Given the description of an element on the screen output the (x, y) to click on. 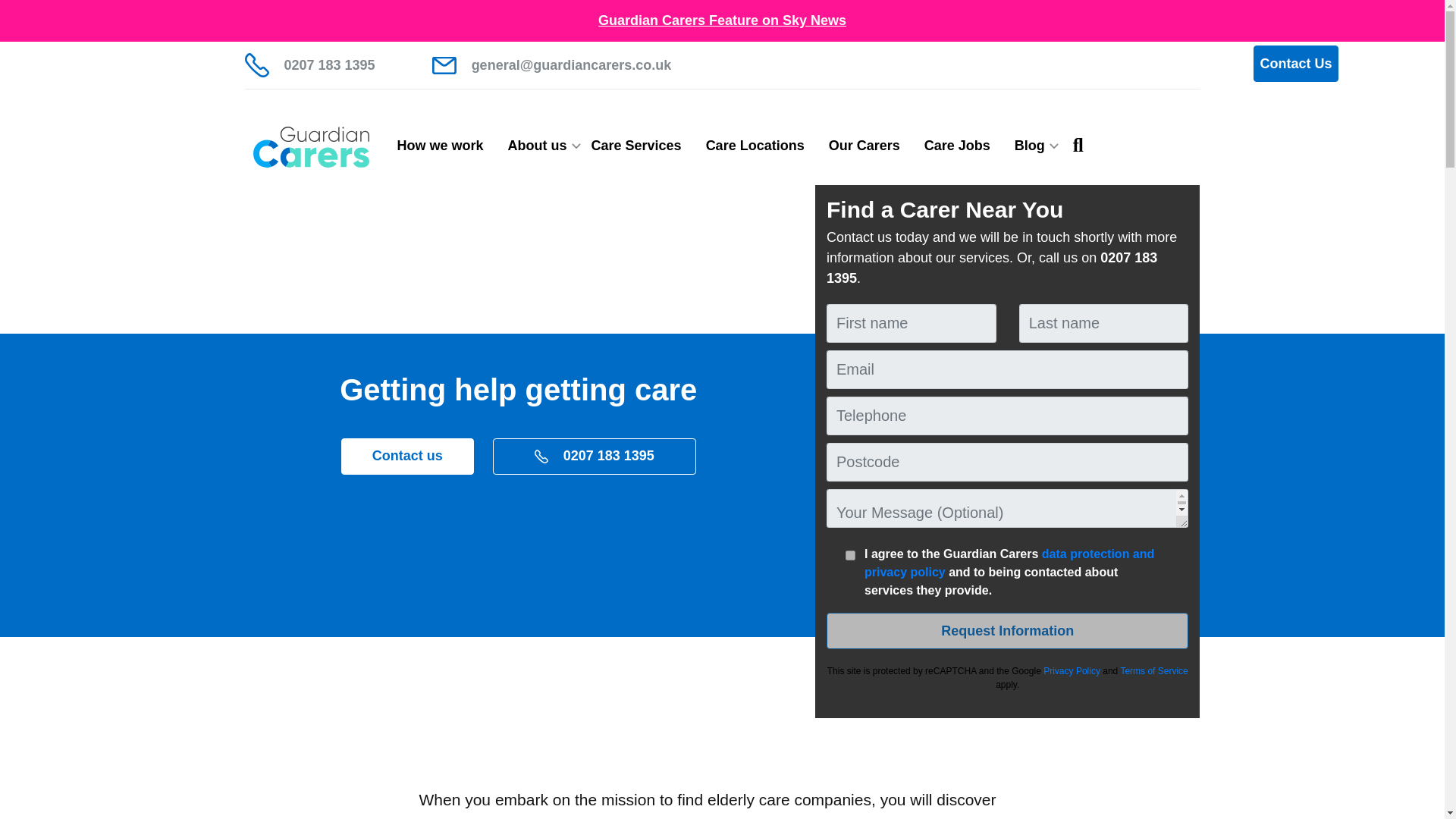
Our Carers (864, 145)
Blog (1030, 145)
Request Information (1008, 630)
Guardian Carers Feature on Sky News (721, 20)
Contact Us (1295, 63)
How we work (440, 145)
Care Services (636, 145)
0207 183 1395 (309, 64)
Terms of Service (1153, 670)
data protection and privacy policy (1009, 562)
0207 183 1395 (594, 456)
accept (850, 555)
Care Jobs (957, 145)
Privacy Policy (1071, 670)
About us (537, 145)
